Given the description of an element on the screen output the (x, y) to click on. 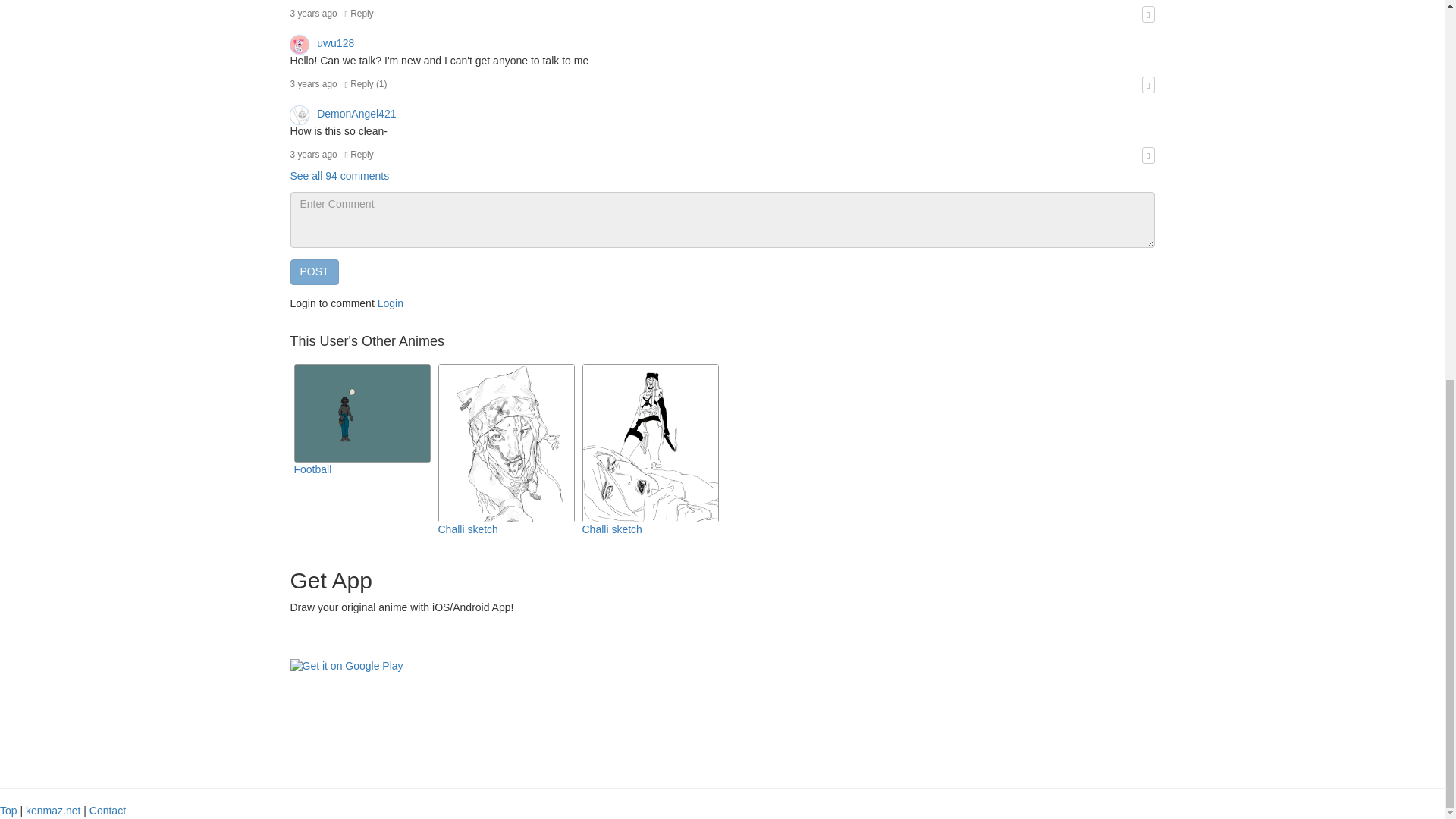
See all 94 comments (338, 175)
Football (312, 469)
Challi sketch (612, 529)
  uwu128 (321, 42)
  DemonAngel421 (342, 113)
POST (313, 272)
Challi sketch (467, 529)
Reply (359, 154)
POST (313, 272)
Login (390, 303)
